Given the description of an element on the screen output the (x, y) to click on. 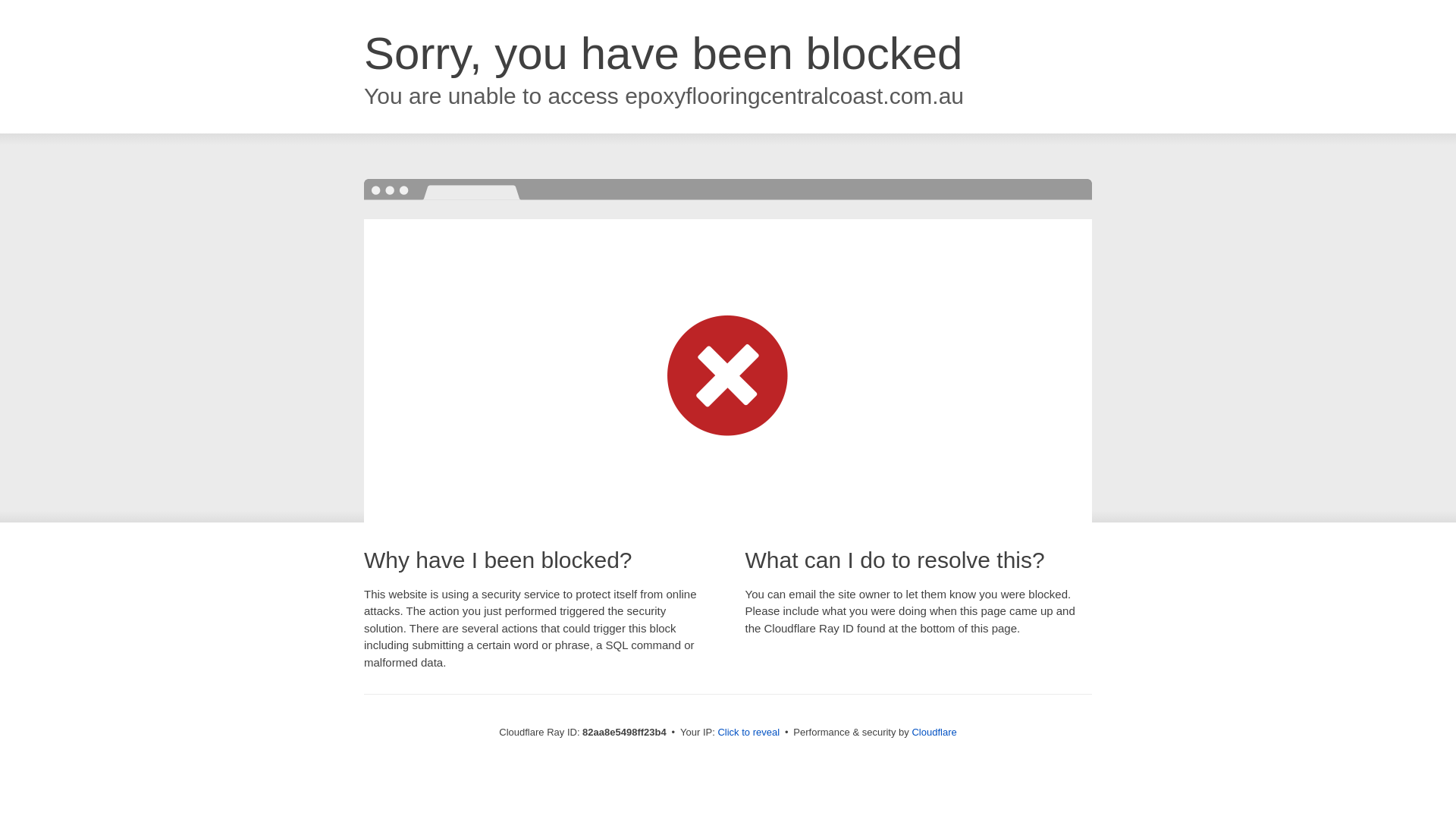
Click to reveal Element type: text (748, 732)
Cloudflare Element type: text (933, 731)
